Given the description of an element on the screen output the (x, y) to click on. 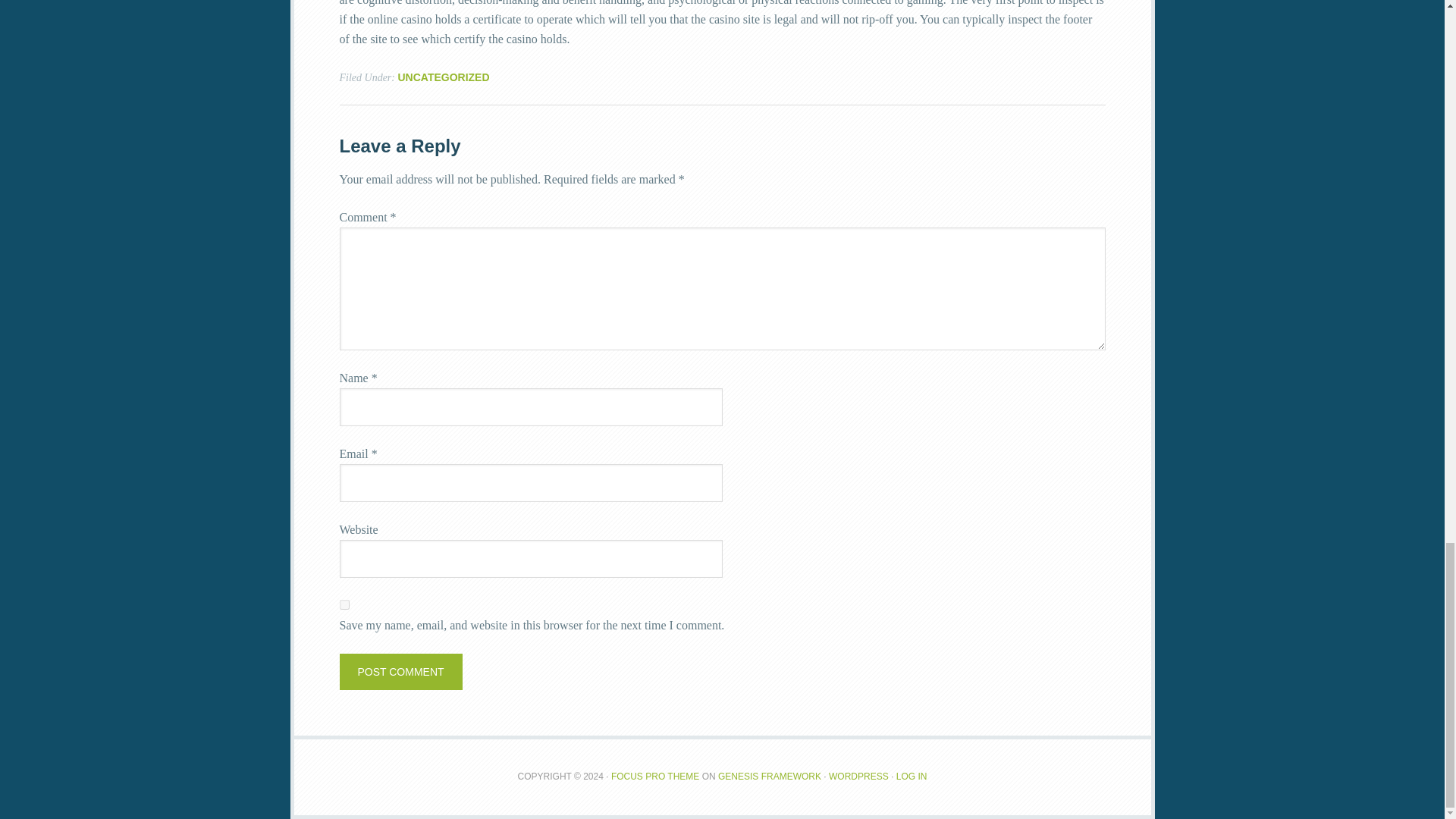
GENESIS FRAMEWORK (769, 776)
Post Comment (401, 671)
yes (344, 604)
UNCATEGORIZED (443, 77)
WORDPRESS (858, 776)
FOCUS PRO THEME (654, 776)
Post Comment (401, 671)
LOG IN (911, 776)
